Given the description of an element on the screen output the (x, y) to click on. 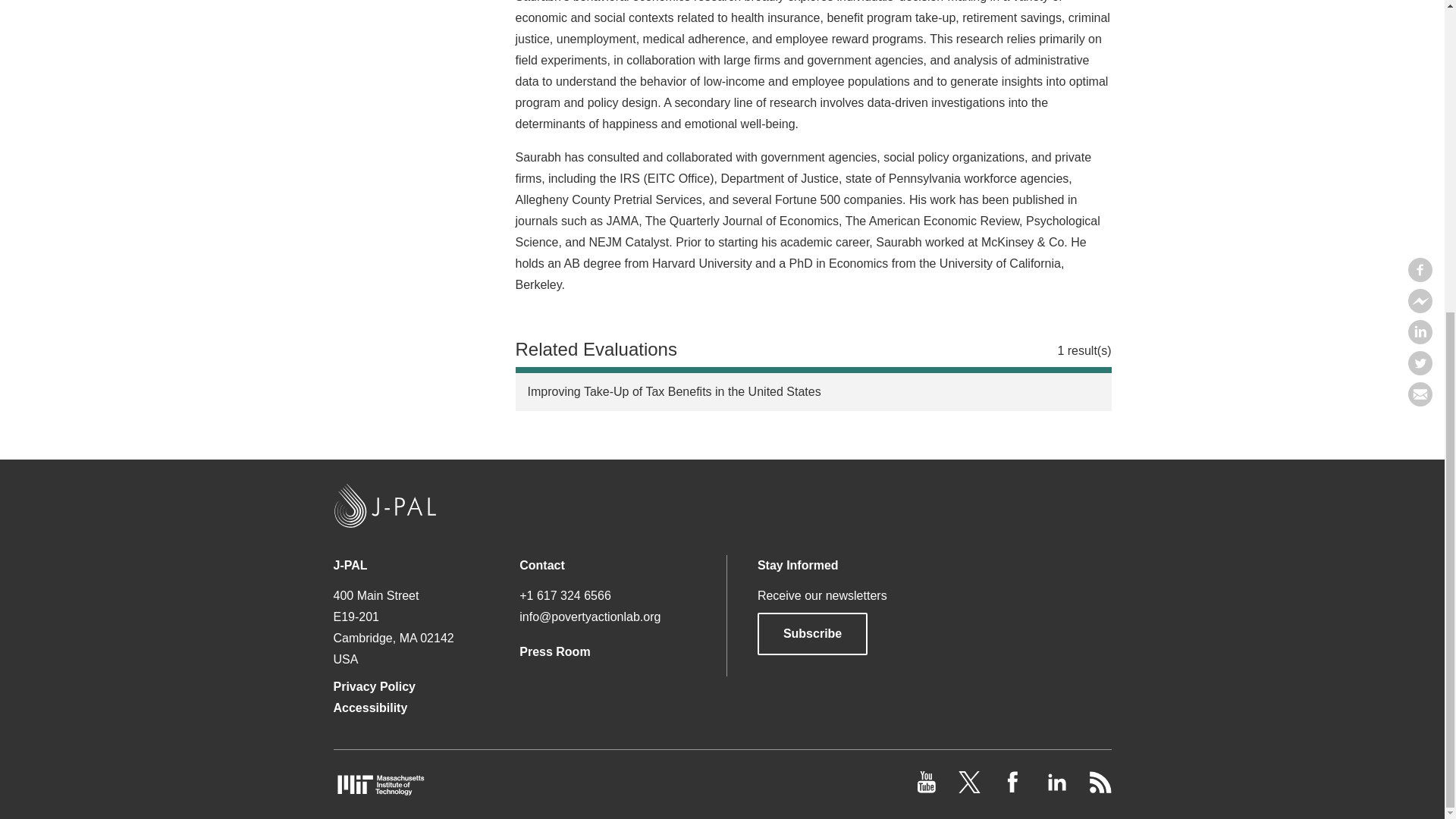
rss feed (1099, 788)
facebook (1015, 788)
LinkedIn (1057, 788)
twitter (971, 788)
youtube (927, 788)
